Given the description of an element on the screen output the (x, y) to click on. 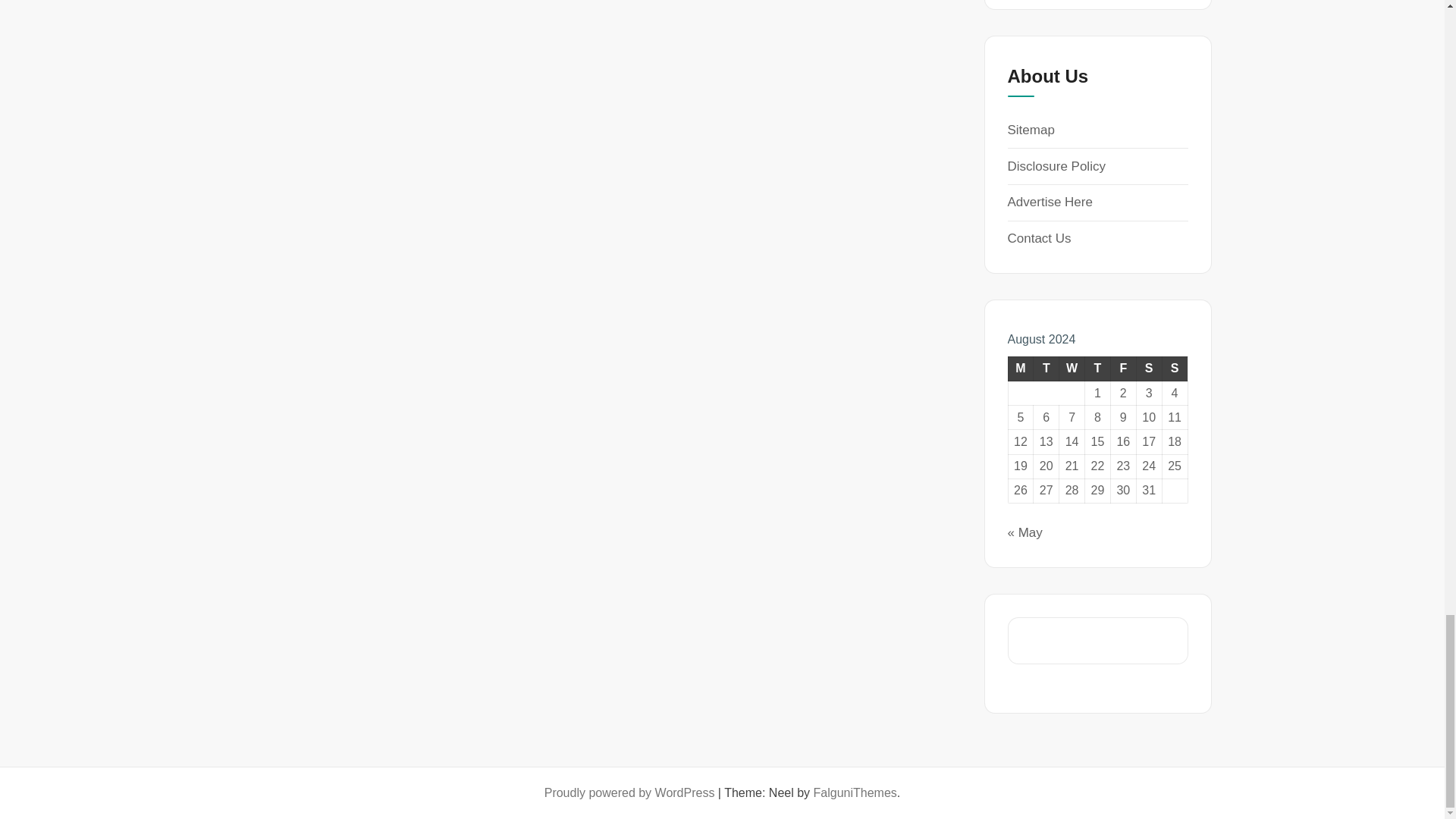
Wednesday (1071, 368)
Sunday (1174, 368)
Tuesday (1046, 368)
Monday (1020, 368)
Thursday (1097, 368)
Friday (1122, 368)
Saturday (1148, 368)
